Given the description of an element on the screen output the (x, y) to click on. 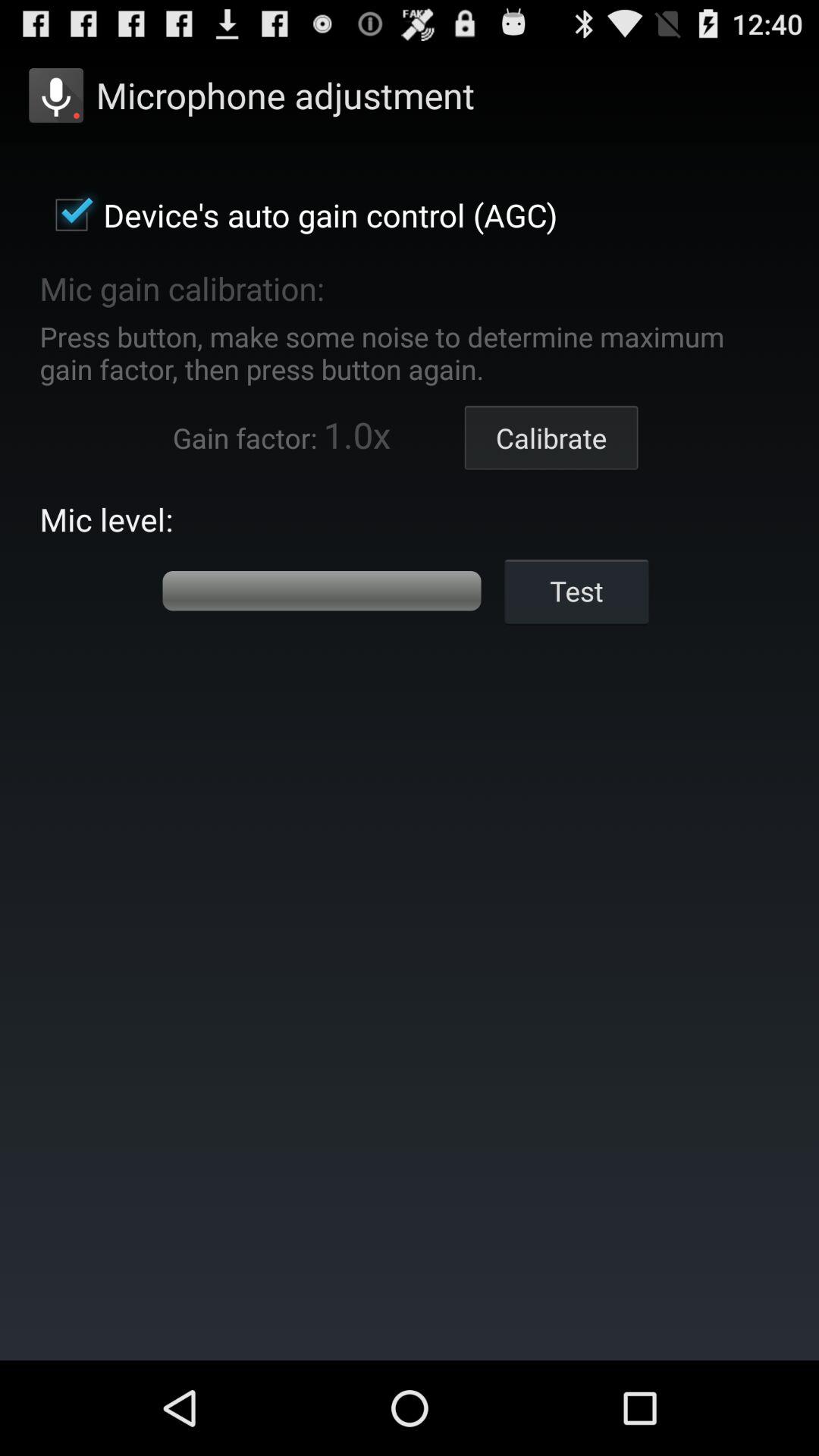
turn off test on the right (576, 590)
